Given the description of an element on the screen output the (x, y) to click on. 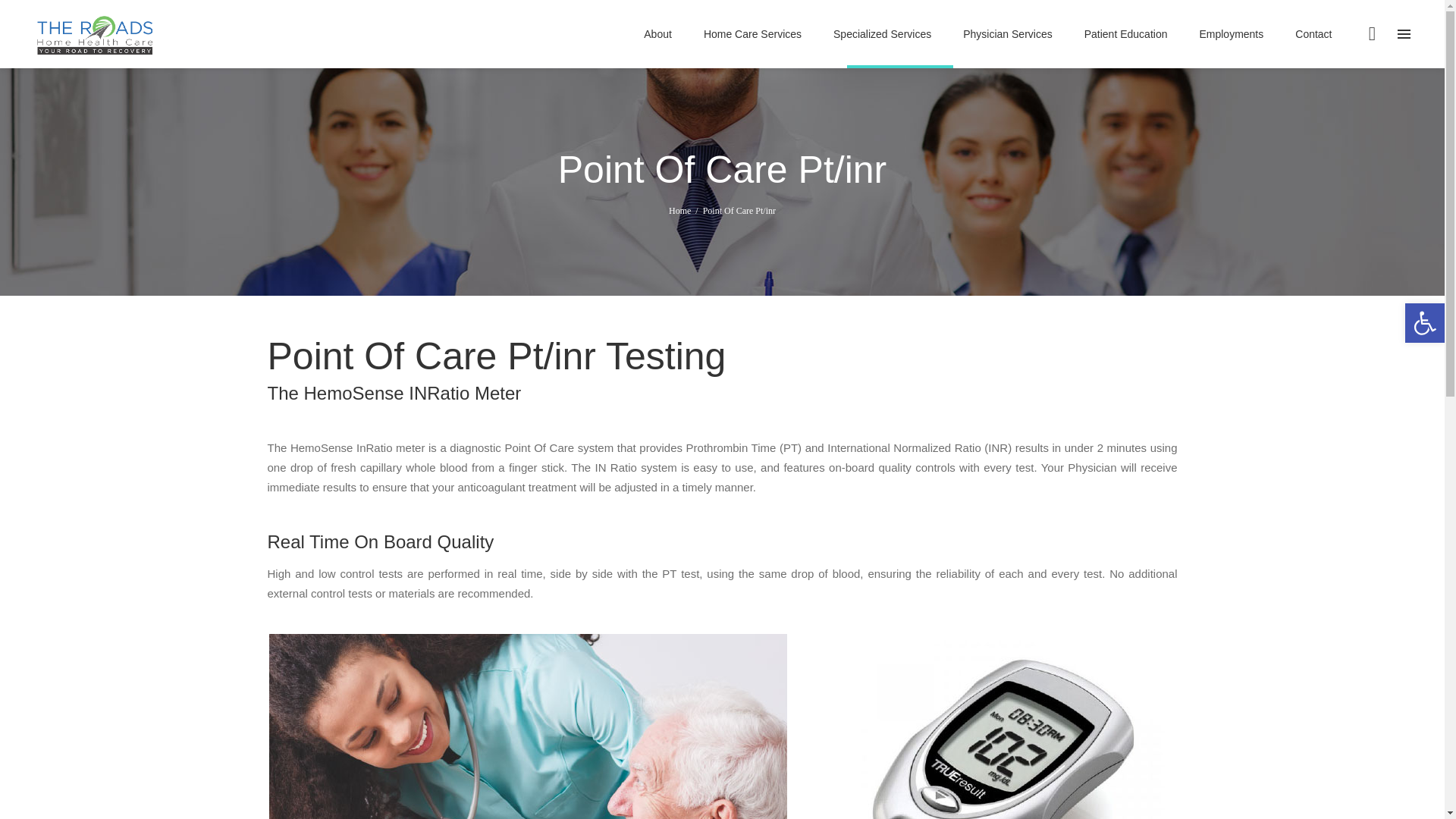
Home Care Services (751, 33)
Specialized Services (881, 33)
Accessibility Tools (1424, 322)
